Given the description of an element on the screen output the (x, y) to click on. 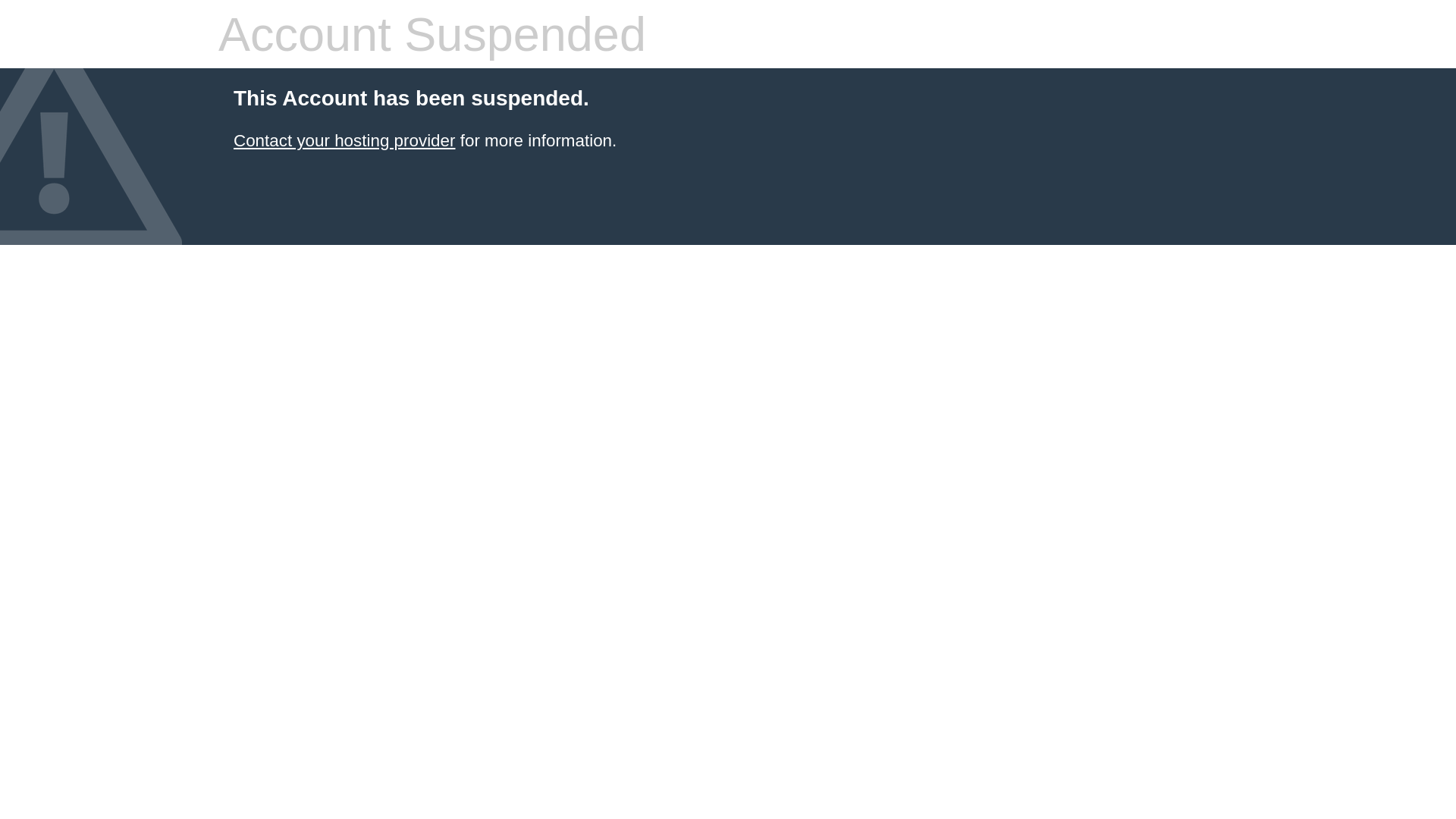
Contact your hosting provider Element type: text (344, 140)
